Given the description of an element on the screen output the (x, y) to click on. 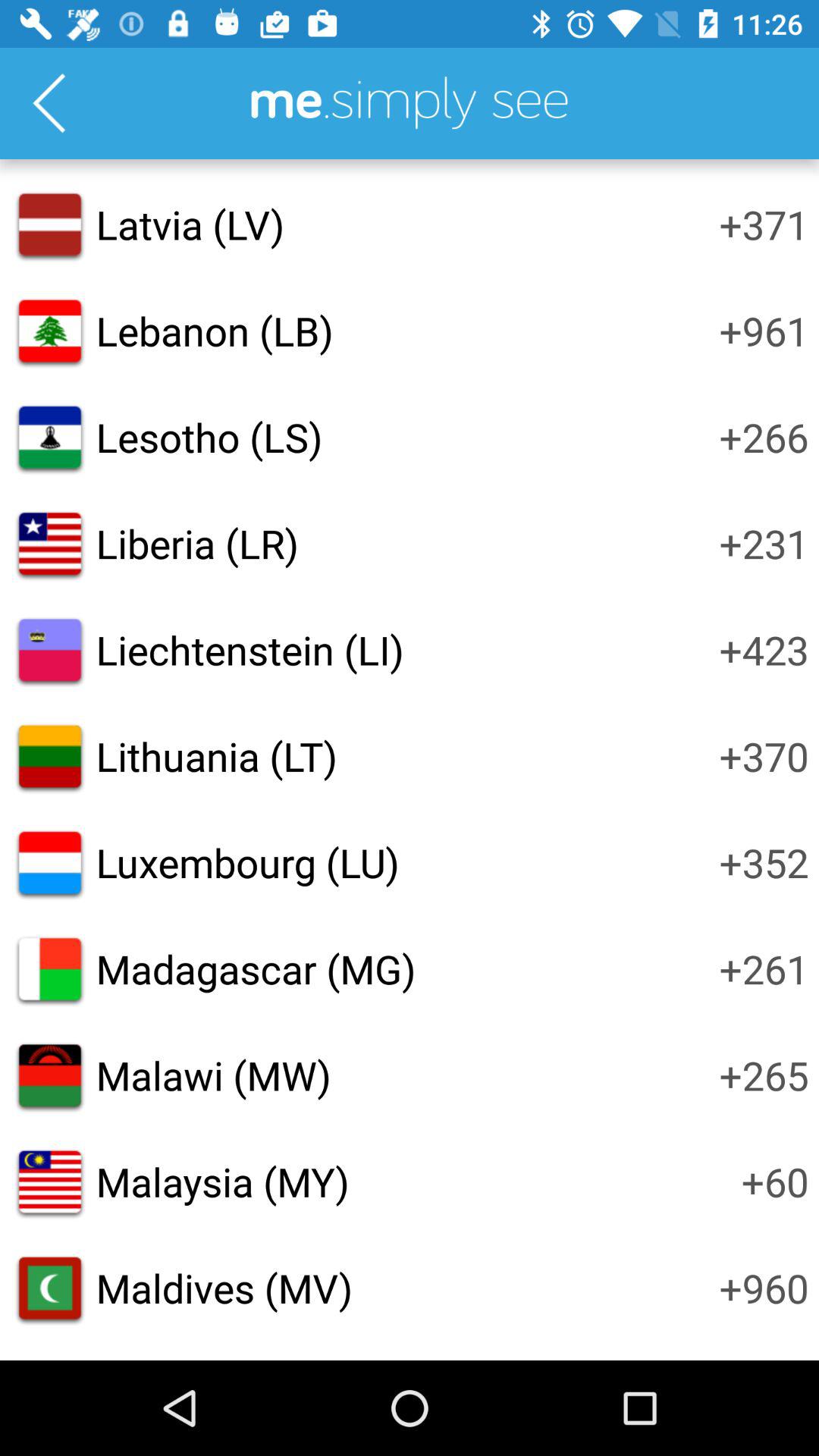
turn off the icon above the +370 icon (763, 649)
